Given the description of an element on the screen output the (x, y) to click on. 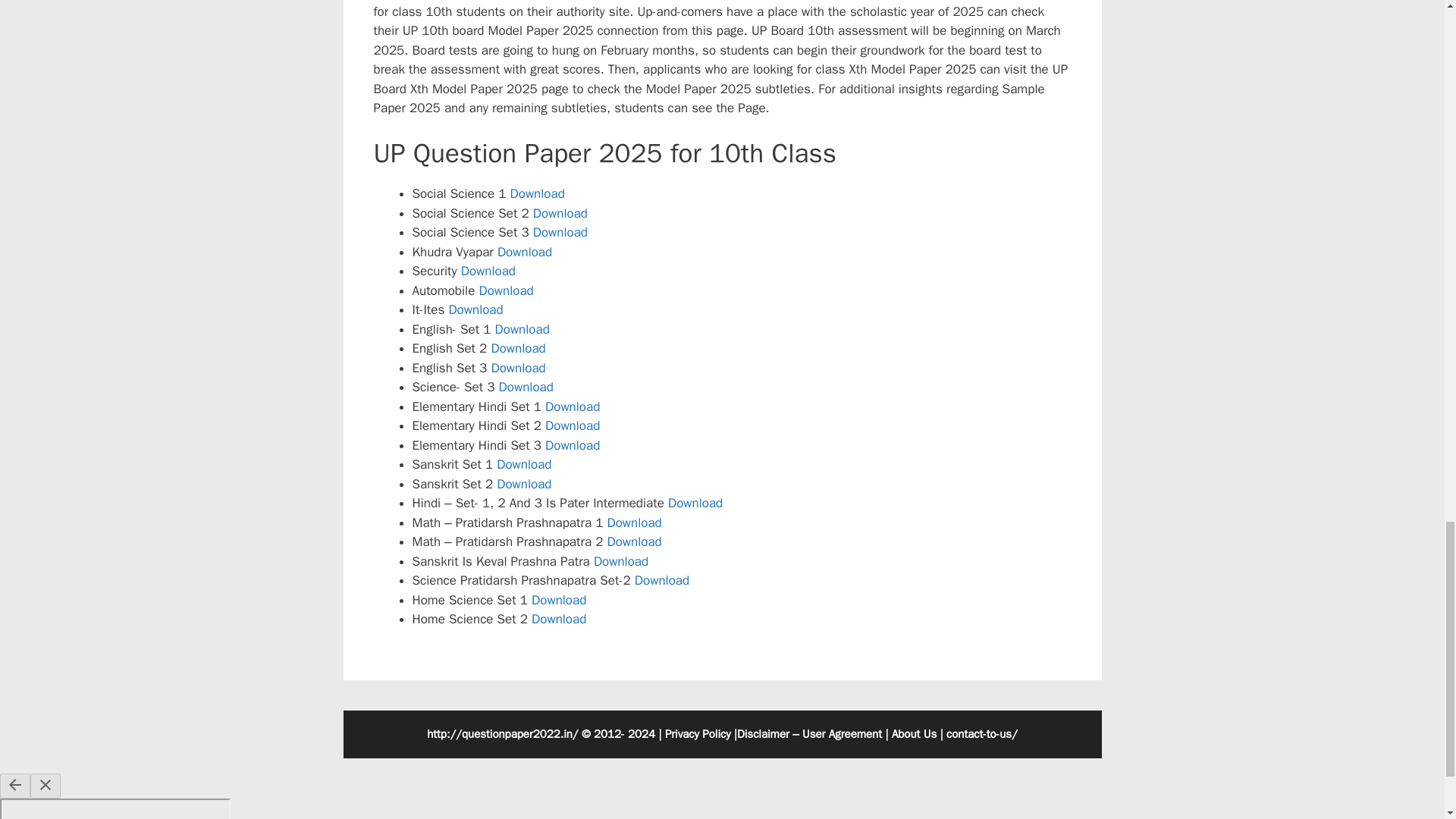
Download (517, 348)
Download (488, 270)
Download (661, 580)
Download (620, 561)
Download (505, 290)
Download (517, 367)
Download (523, 483)
Download (558, 618)
Download (475, 309)
Download (560, 232)
Download (523, 464)
Download (522, 329)
Download (526, 386)
Download (571, 406)
Privacy Policy (697, 734)
